Given the description of an element on the screen output the (x, y) to click on. 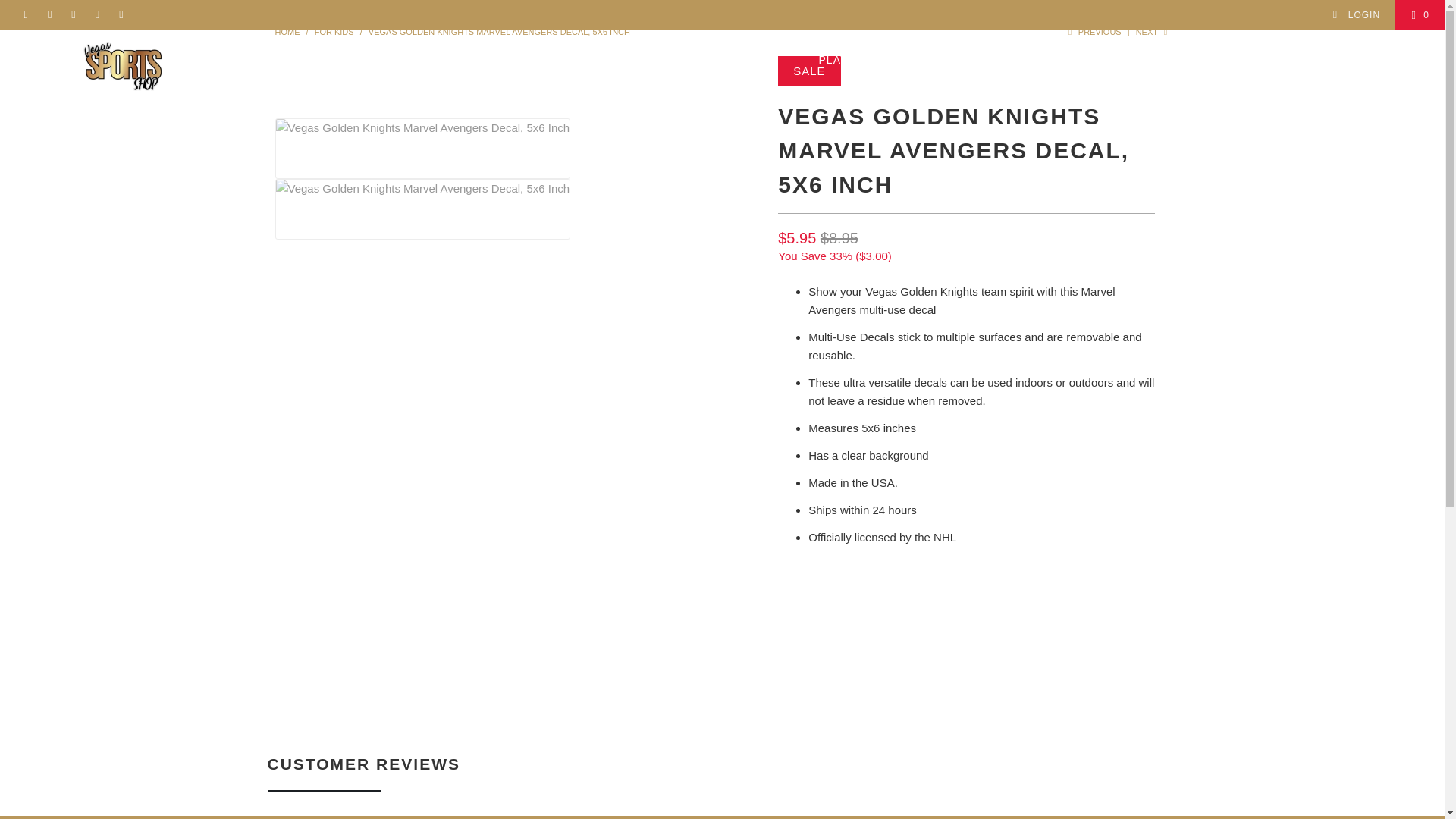
LOGIN (1355, 15)
Next (1152, 31)
Vegas Sports Shop on Instagram (48, 14)
Vegas Sports Shop on Twitter (73, 14)
My Account  (1355, 15)
Vegas Sports Shop (122, 66)
For Kids (333, 31)
Vegas Sports Shop (287, 31)
Vegas Sports Shop on YouTube (121, 14)
Vegas Sports Shop on Pinterest (96, 14)
